Given the description of an element on the screen output the (x, y) to click on. 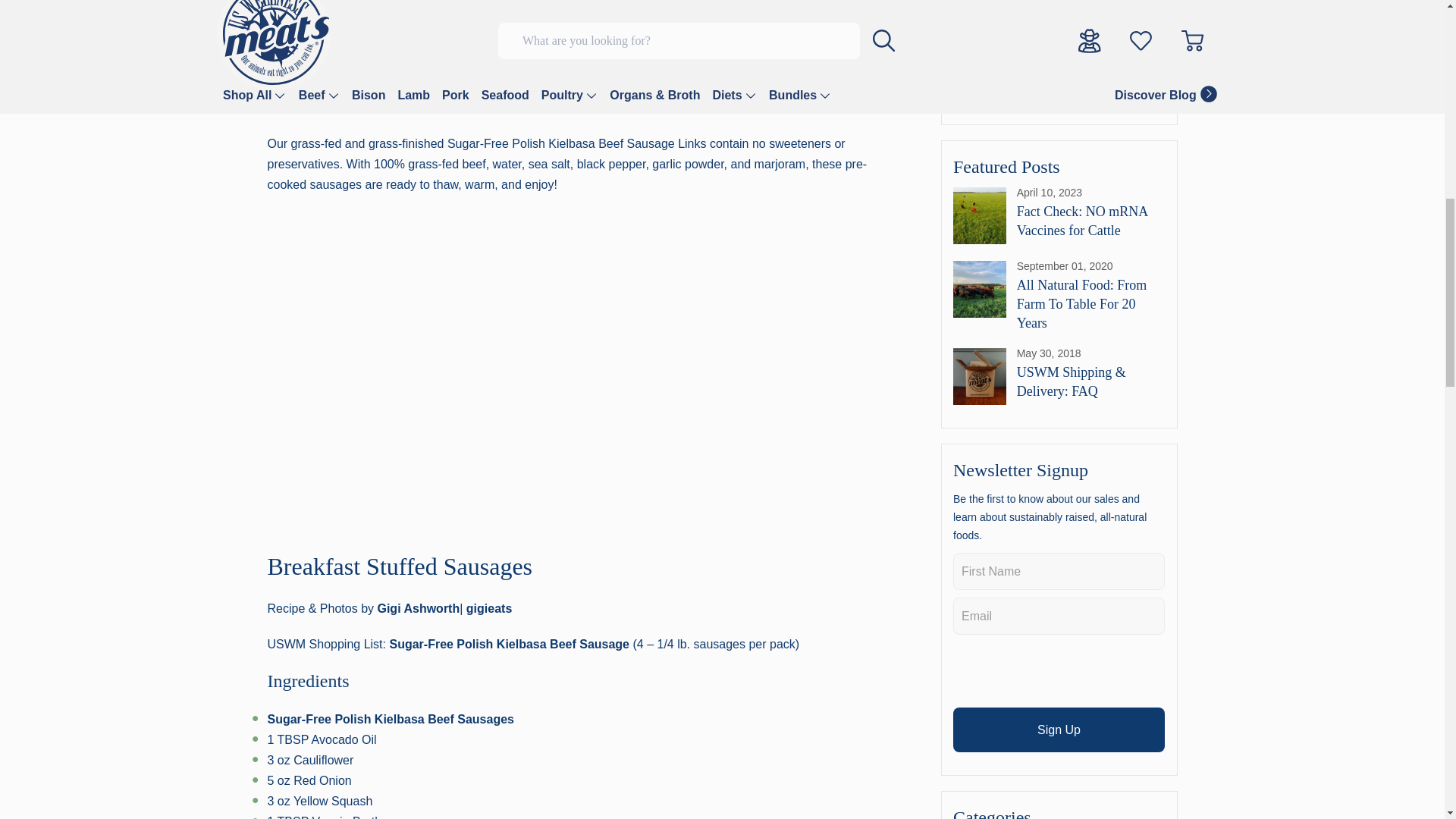
Sign Up (1058, 729)
